Given the description of an element on the screen output the (x, y) to click on. 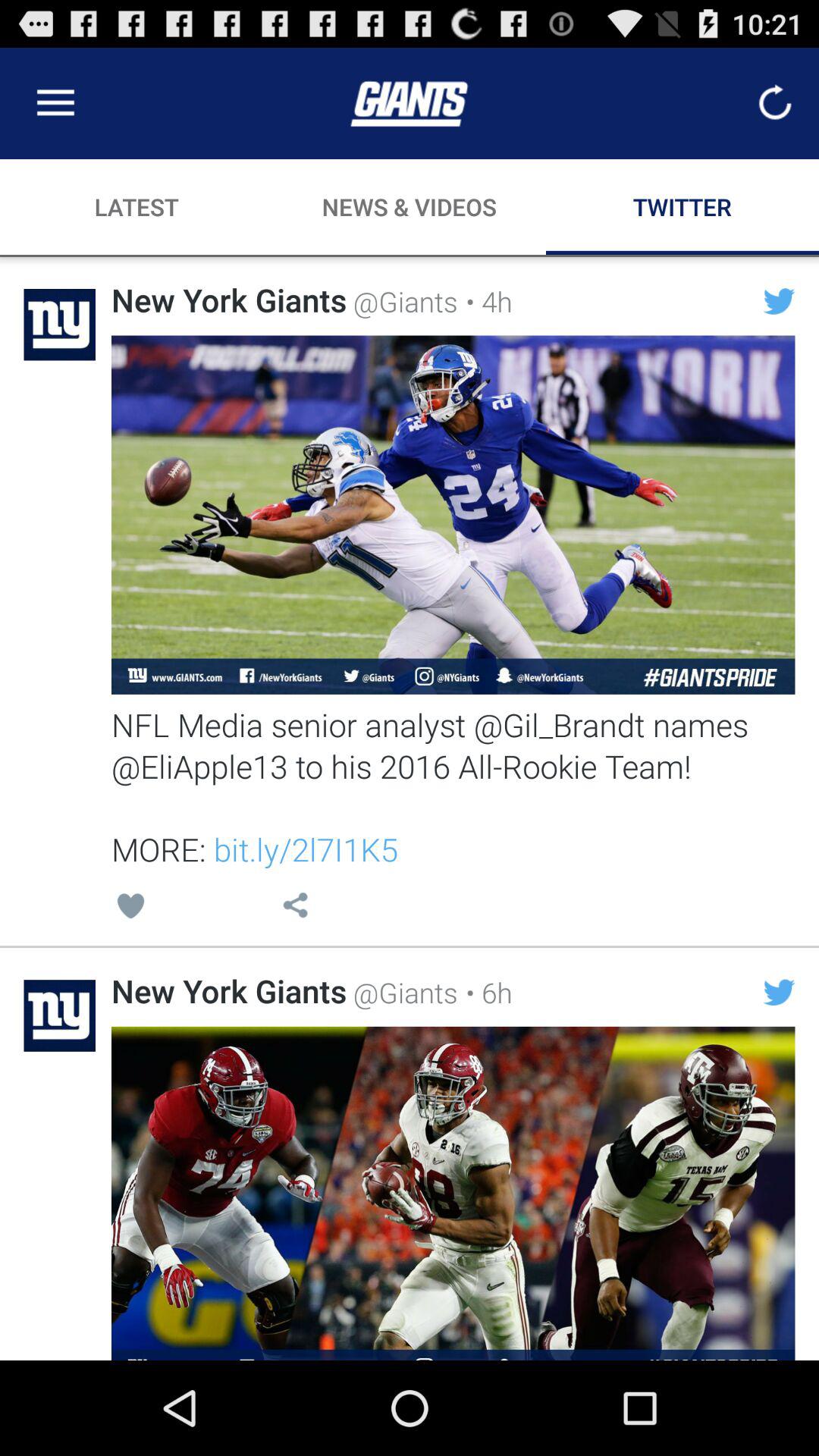
launch nfl media senior item (453, 786)
